Given the description of an element on the screen output the (x, y) to click on. 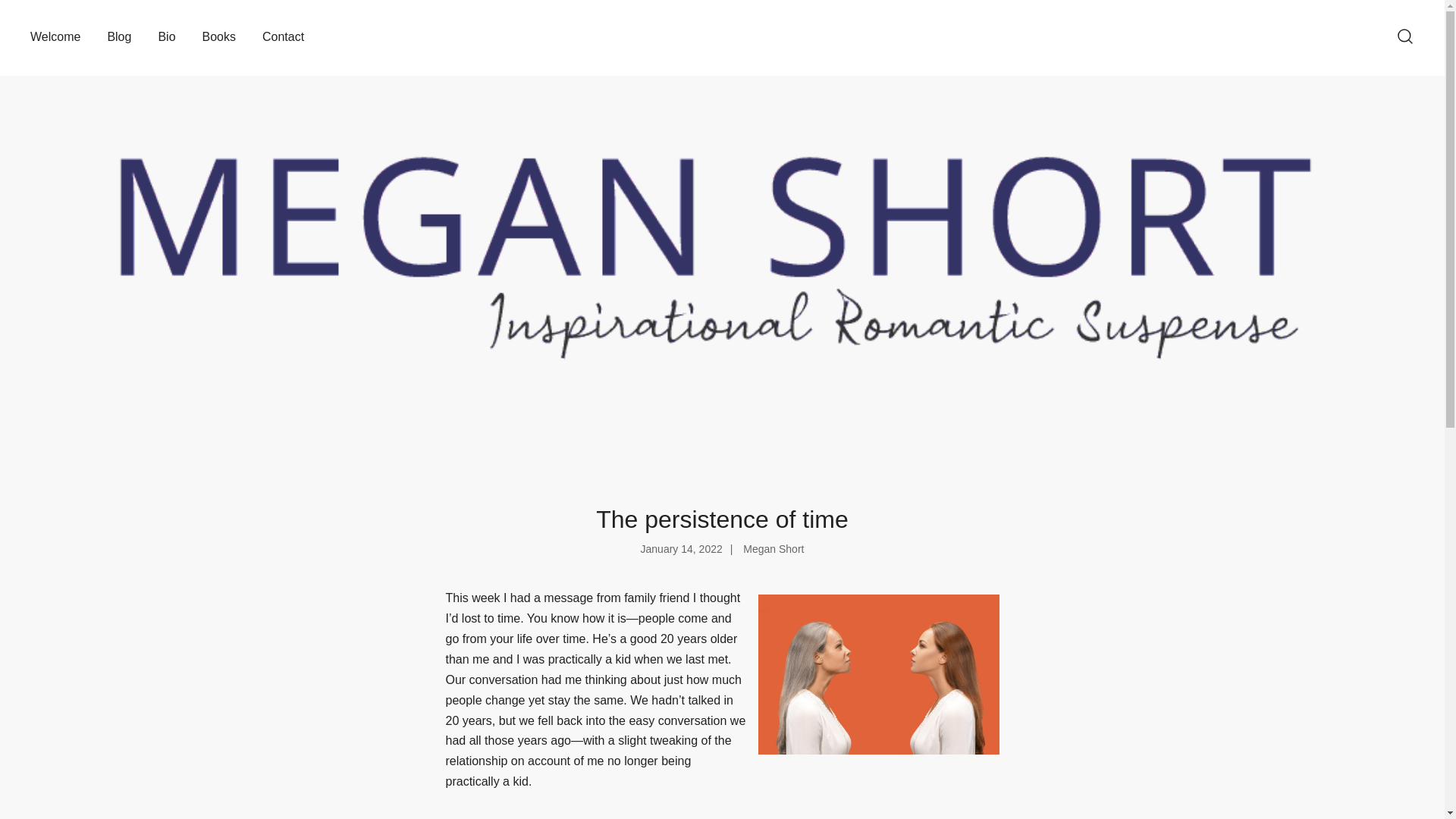
January 14, 2022 (681, 548)
Contact (283, 37)
Welcome (55, 37)
Books (218, 37)
Megan Short (772, 548)
Search for a product (1404, 37)
